Given the description of an element on the screen output the (x, y) to click on. 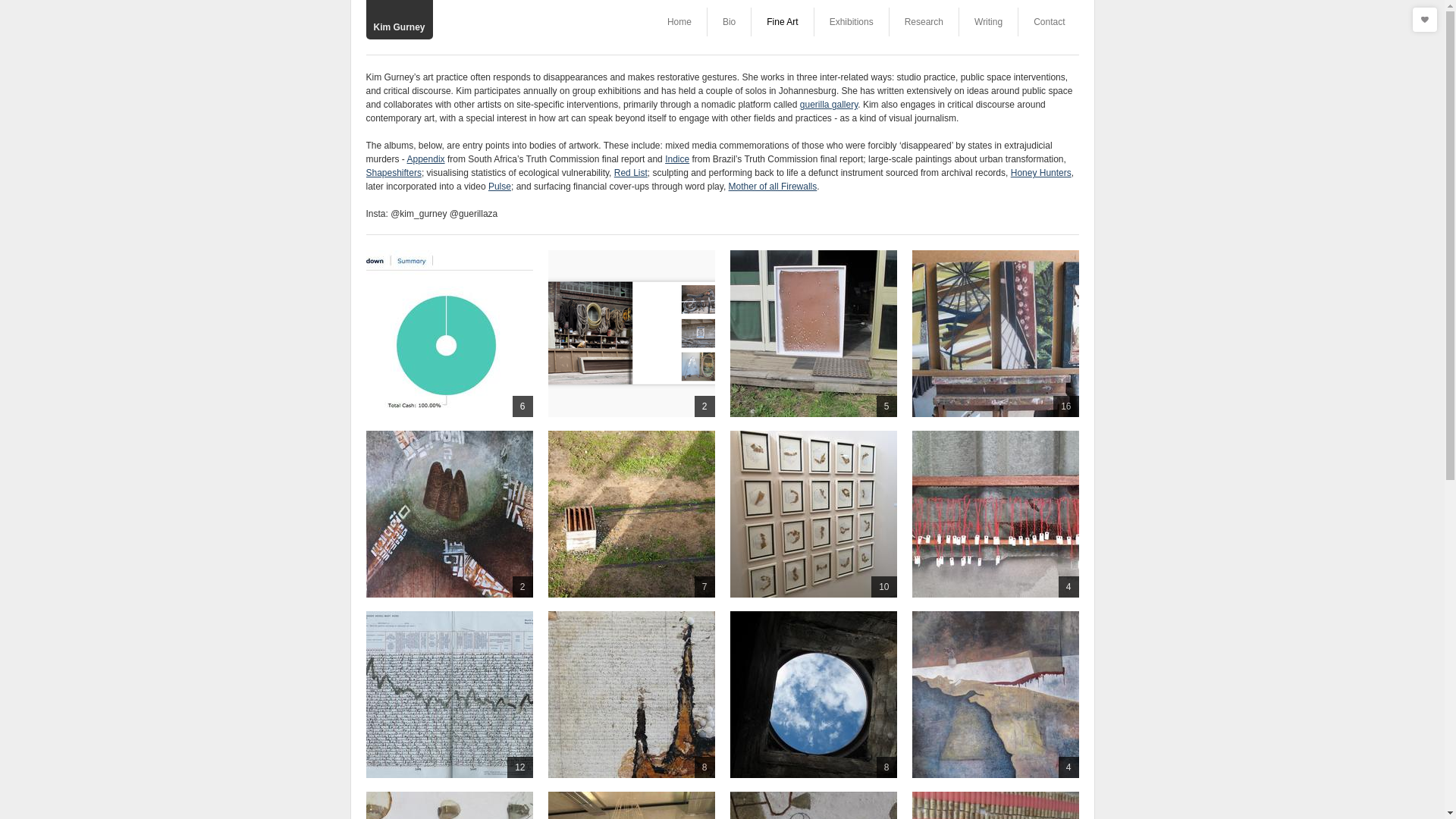
Cape Town Under (812, 694)
Mother of All Firewalls (630, 694)
Love's Tally (448, 805)
guerilla gallery (828, 104)
16 (994, 333)
Pulse (499, 185)
Indice (812, 513)
4 (994, 694)
Honey Hunters (1040, 172)
10 (812, 513)
Appendix (426, 158)
Shapeshifters (392, 172)
Bringing it Down (812, 805)
Word Launder (448, 694)
4 (448, 805)
